Given the description of an element on the screen output the (x, y) to click on. 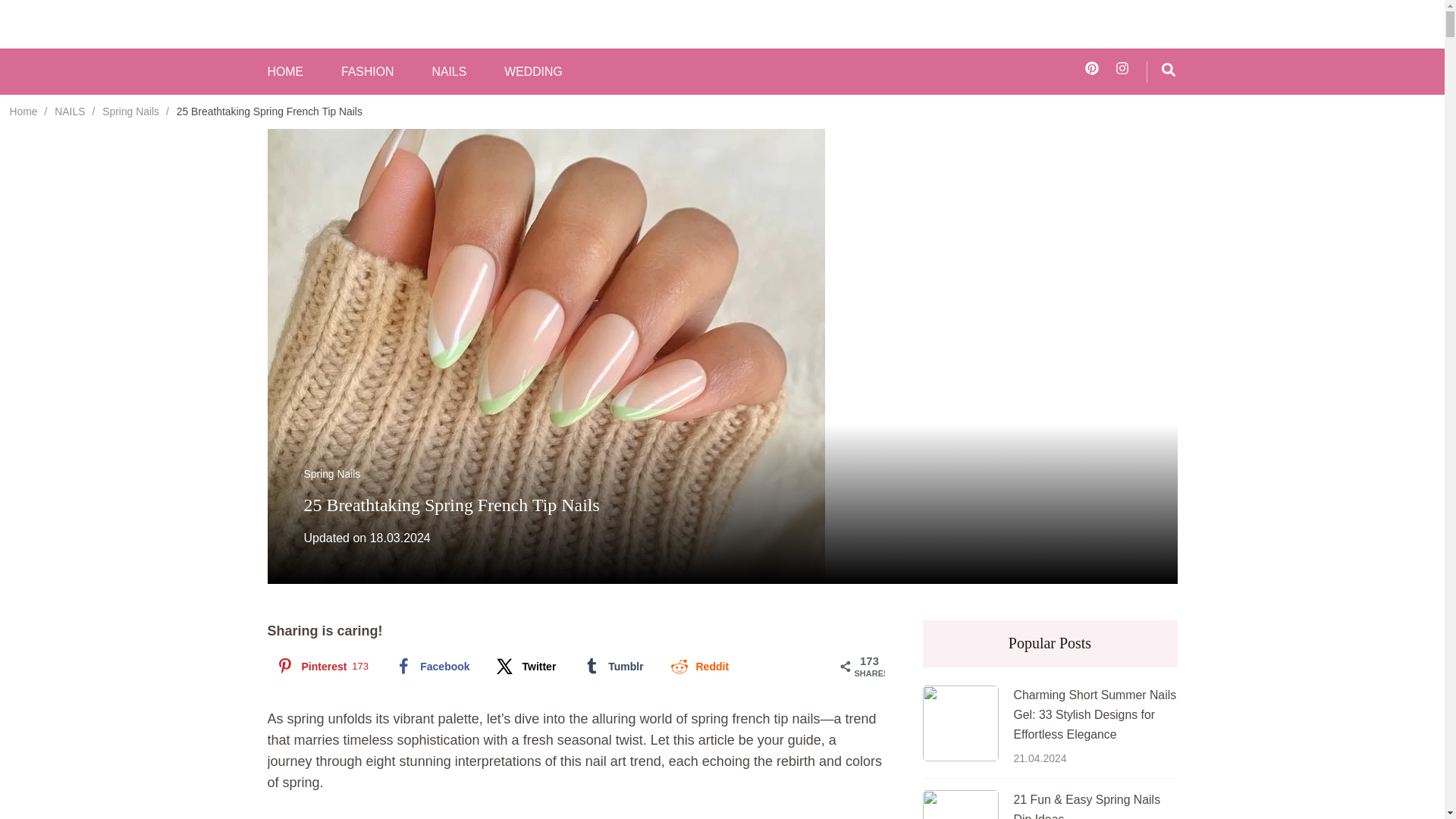
Save to Pinterest (320, 666)
WEDDING (532, 71)
Share on X (524, 666)
NAILS (447, 71)
FASHION (366, 71)
HOME (284, 71)
Share on Reddit (698, 666)
Share on Tumblr (611, 666)
Share on Facebook (430, 666)
